Given the description of an element on the screen output the (x, y) to click on. 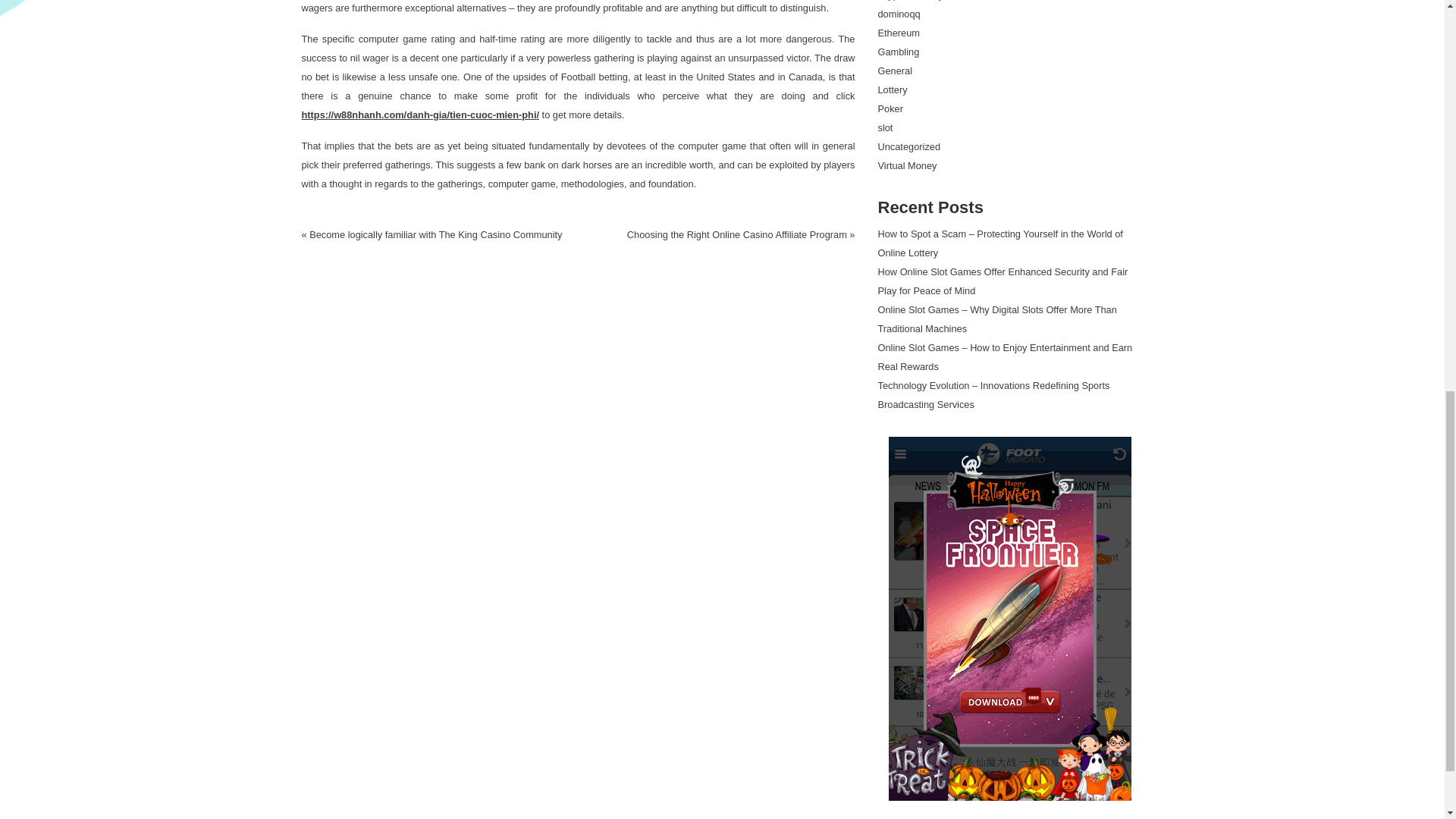
Ethereum (898, 32)
Become logically familiar with The King Casino Community (435, 234)
Poker (889, 108)
Choosing the Right Online Casino Affiliate Program (737, 234)
Uncategorized (908, 146)
dominoqq (898, 13)
General (894, 70)
Lottery (892, 89)
Gambling (898, 51)
